Given the description of an element on the screen output the (x, y) to click on. 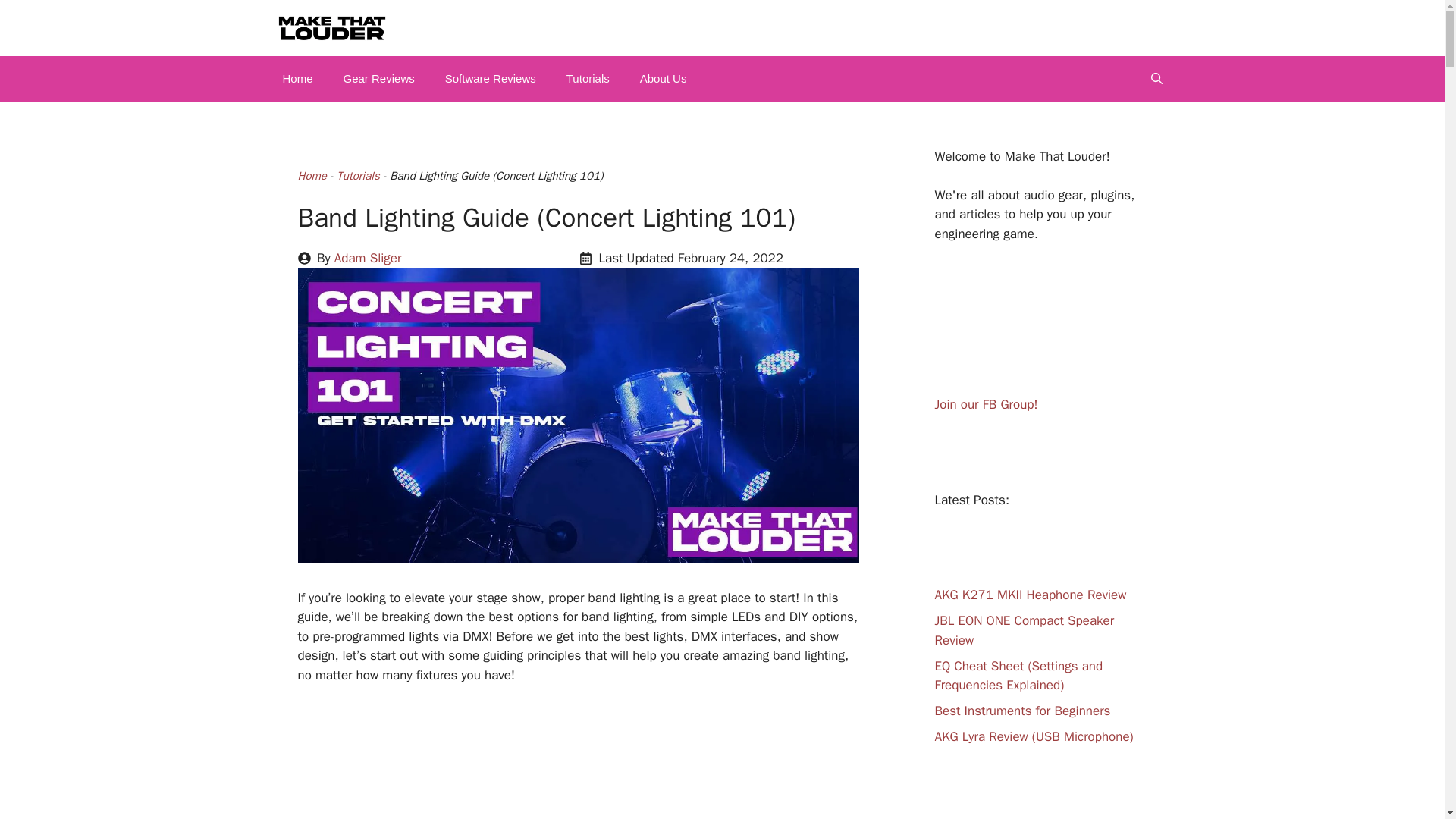
Software Reviews (490, 78)
Adam Sliger (367, 258)
AKG K271 MKII Heaphone Review (1029, 594)
Home (311, 175)
Best Instruments for Beginners (1021, 710)
Home (296, 78)
Tutorials (357, 175)
Gear Reviews (379, 78)
Join our FB Group! (985, 404)
JBL EON ONE Compact Speaker Review (1023, 630)
